Given the description of an element on the screen output the (x, y) to click on. 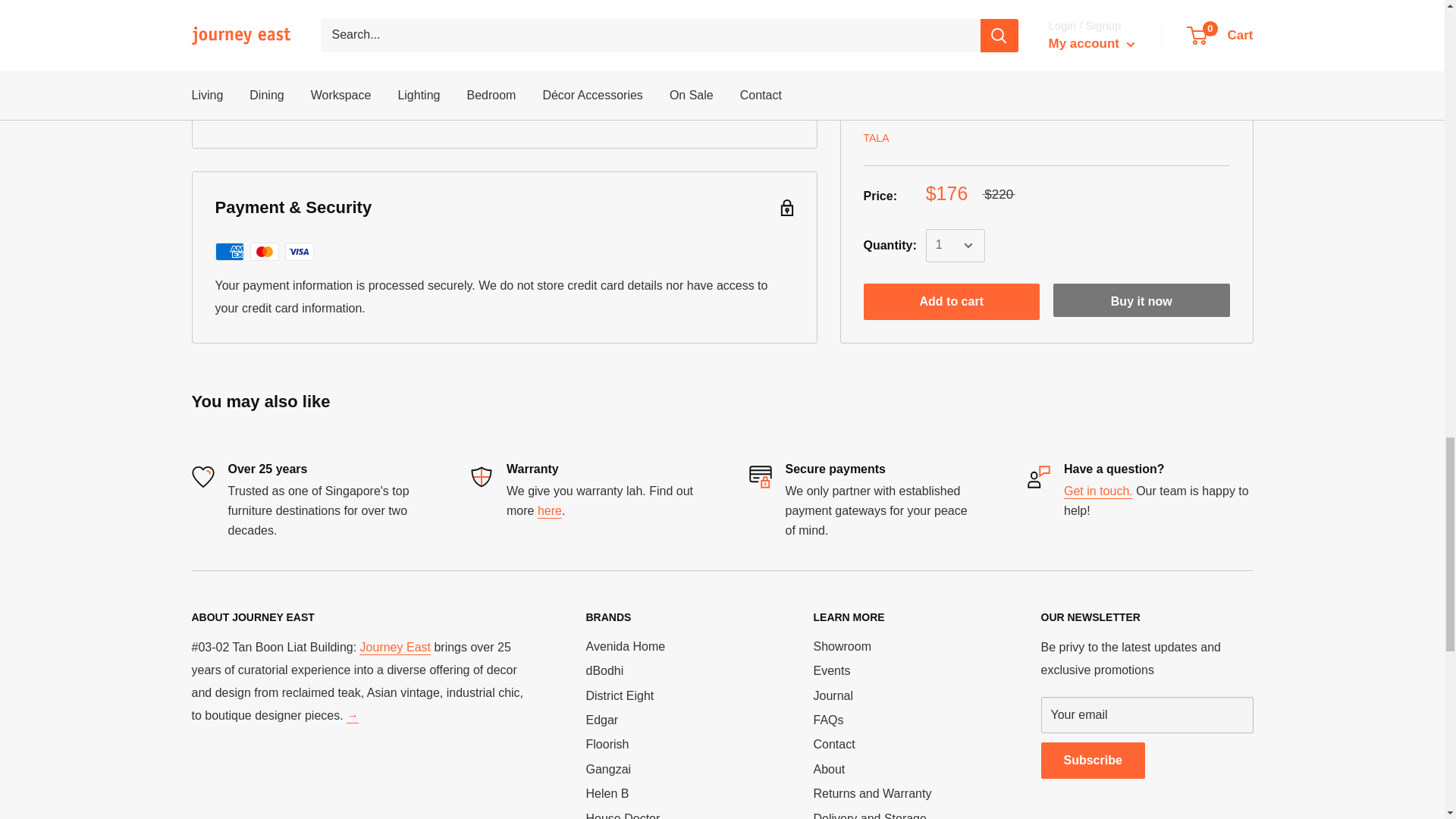
About (352, 715)
Hello from the other side (1098, 490)
About (394, 646)
Returns, Warranty, and Storage (549, 510)
